Given the description of an element on the screen output the (x, y) to click on. 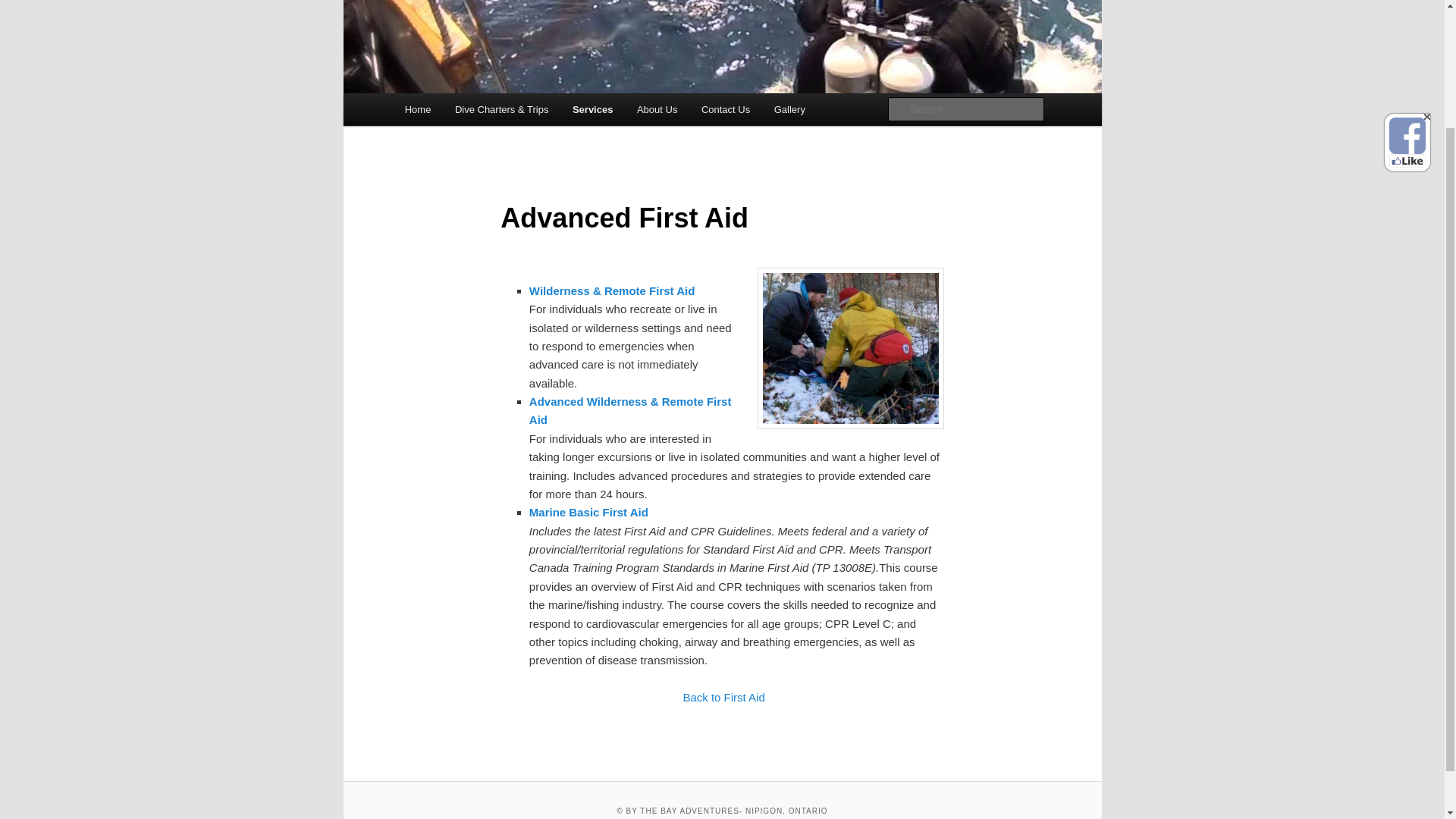
Visit Us On Facebook  (1407, 2)
Home (417, 109)
Contact Us (724, 109)
Wilderness Remote First Aid (612, 290)
About Us (656, 109)
Marine Basic First Aid (588, 512)
Services (592, 109)
First Aid (723, 697)
Advanced Wilderness Remote First Aid (630, 409)
Marine First Aid (588, 512)
WFR Scenario (850, 348)
Gallery (788, 109)
